Given the description of an element on the screen output the (x, y) to click on. 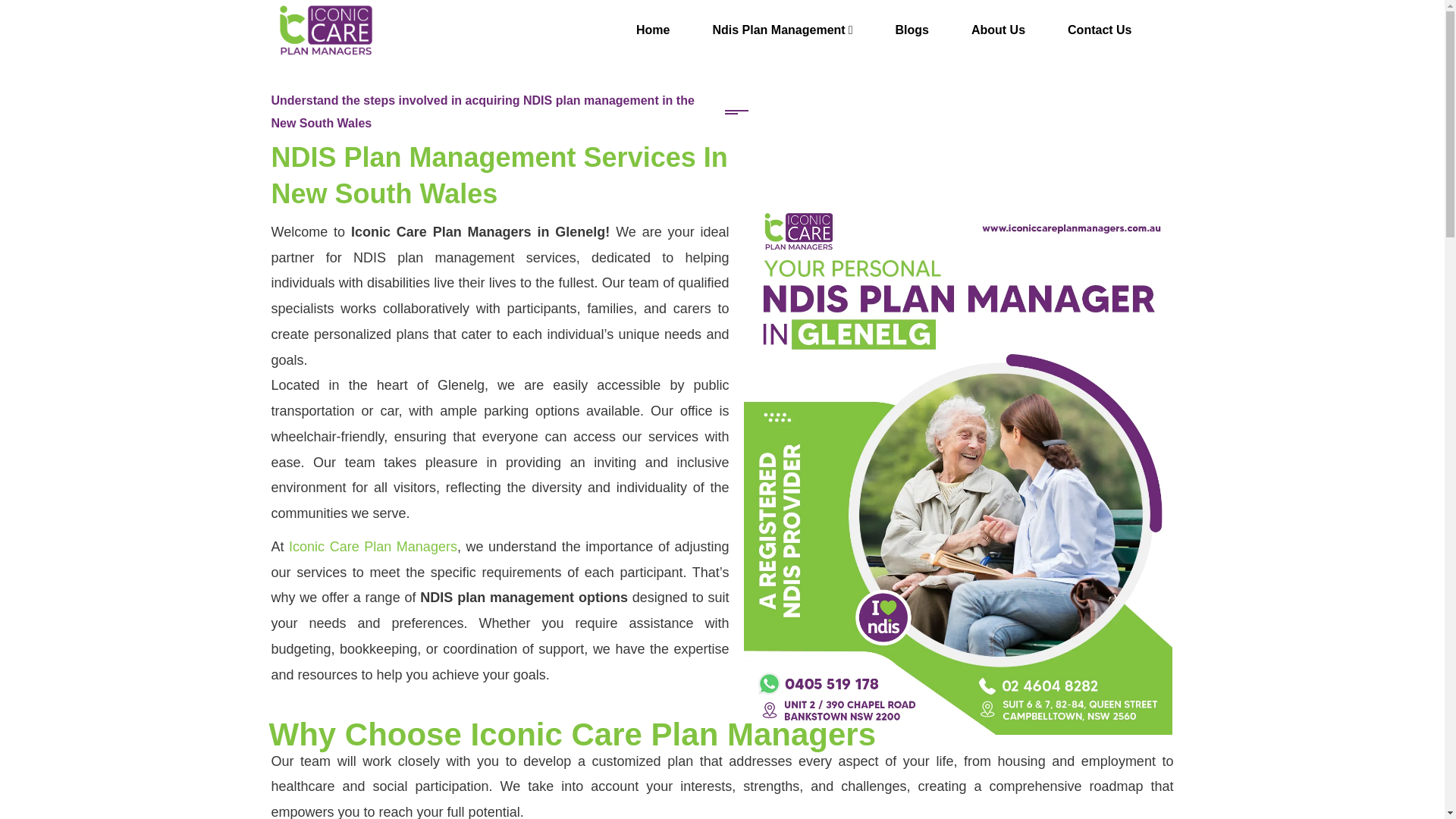
Iconic Care Plan Managers (372, 546)
Contact Us (1098, 30)
Blogs (911, 30)
Iconic Care Plan Managers (325, 29)
Ndis Plan Management (782, 30)
About Us (997, 30)
Home (652, 30)
